Given the description of an element on the screen output the (x, y) to click on. 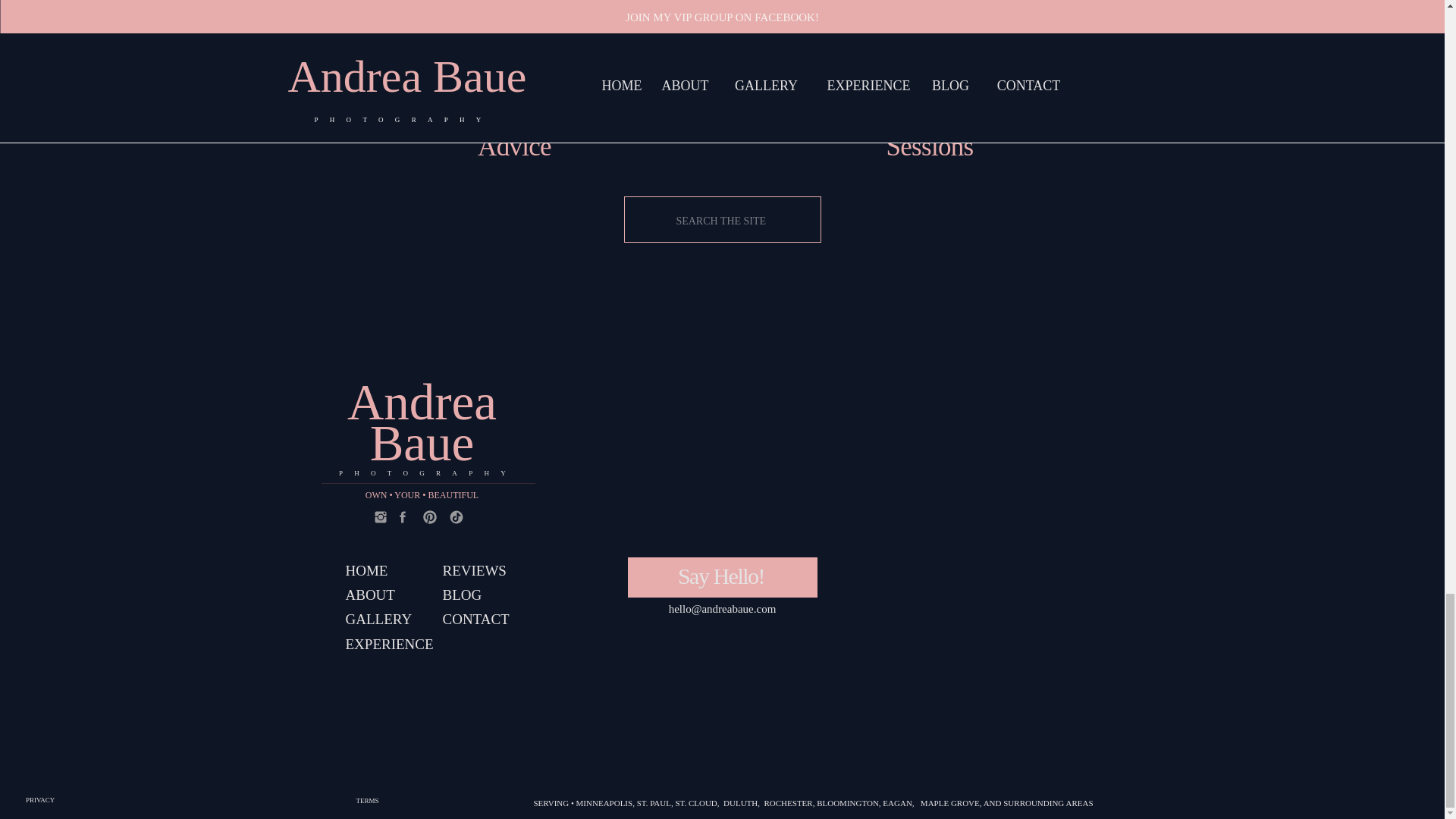
HOME (369, 572)
ABOUT (374, 597)
REVIEWS (486, 572)
Advice (513, 146)
GALLERY (387, 619)
Andrea Baue (421, 423)
EXPERIENCE (392, 644)
Sessions (928, 147)
